Given the description of an element on the screen output the (x, y) to click on. 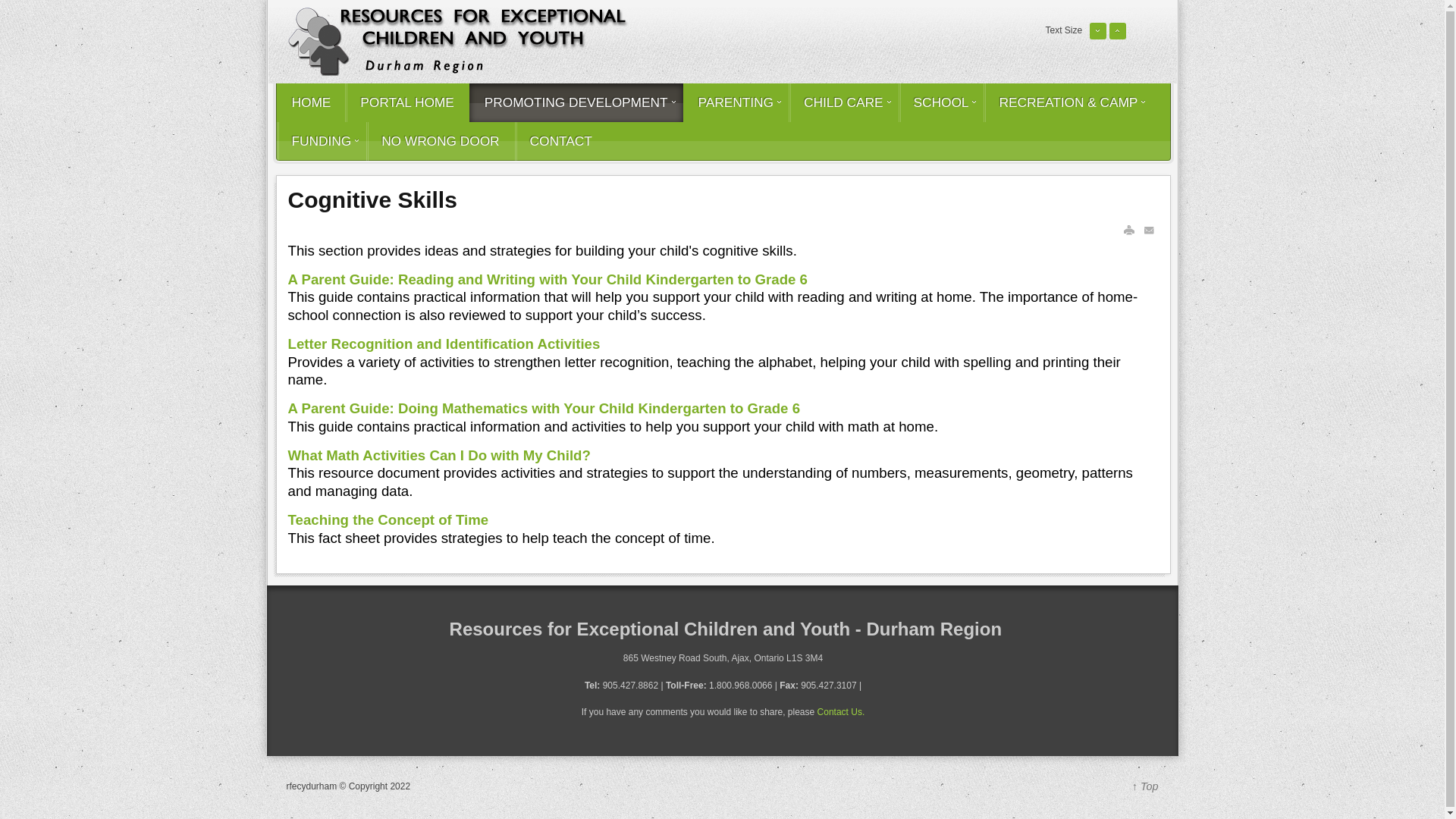
What Math Activities Can I Do with My Child? (439, 455)
Contact Us. (840, 711)
Teaching concept of time (388, 519)
Teaching the Concept of Time (388, 519)
PARENTING (735, 102)
SCHOOL (941, 102)
Letter Recognition and Identification Activities (443, 343)
PROMOTING DEVELOPMENT (575, 102)
NO WRONG DOOR (439, 141)
